Given the description of an element on the screen output the (x, y) to click on. 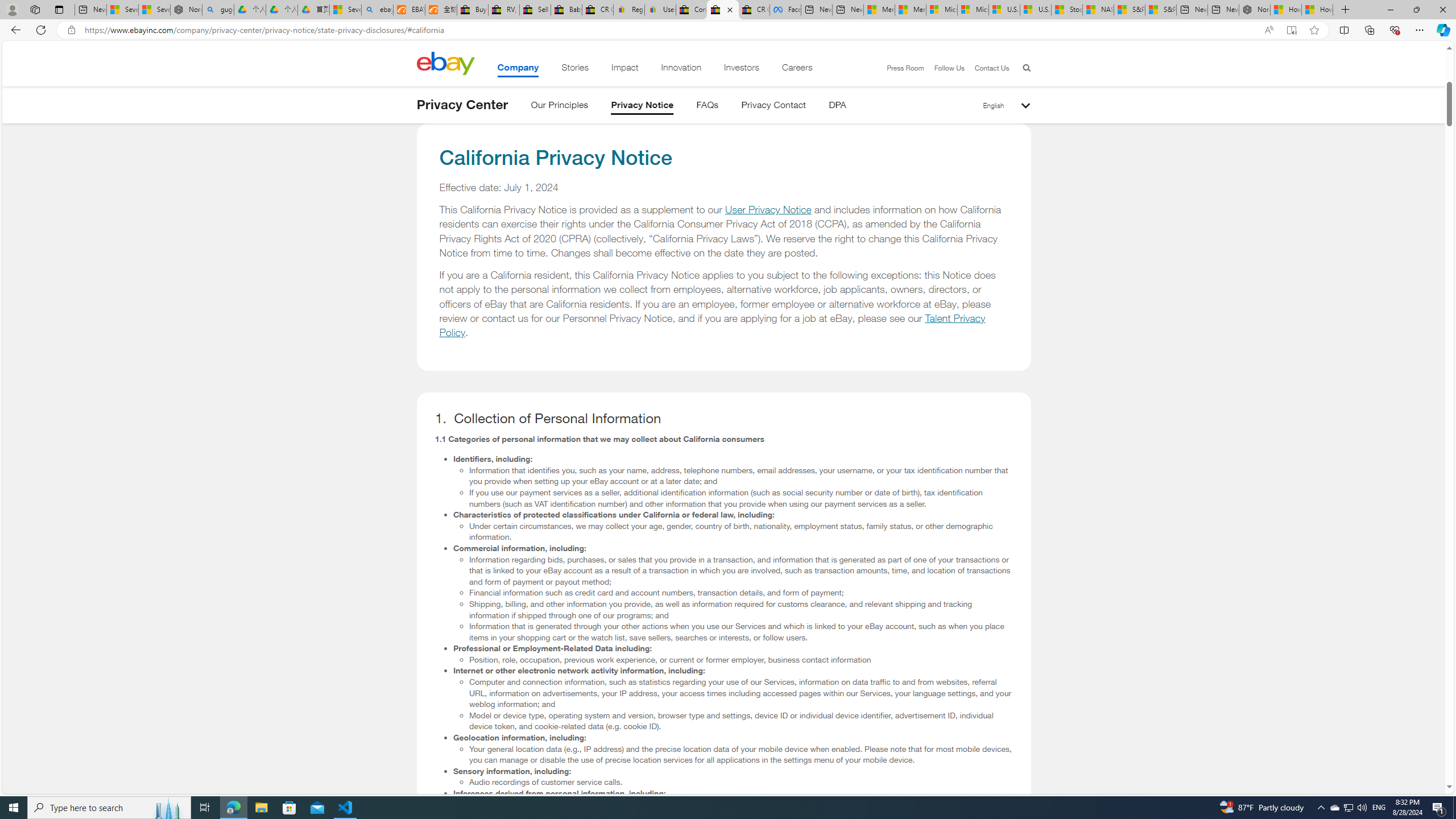
Privacy Contact (773, 107)
